Given the description of an element on the screen output the (x, y) to click on. 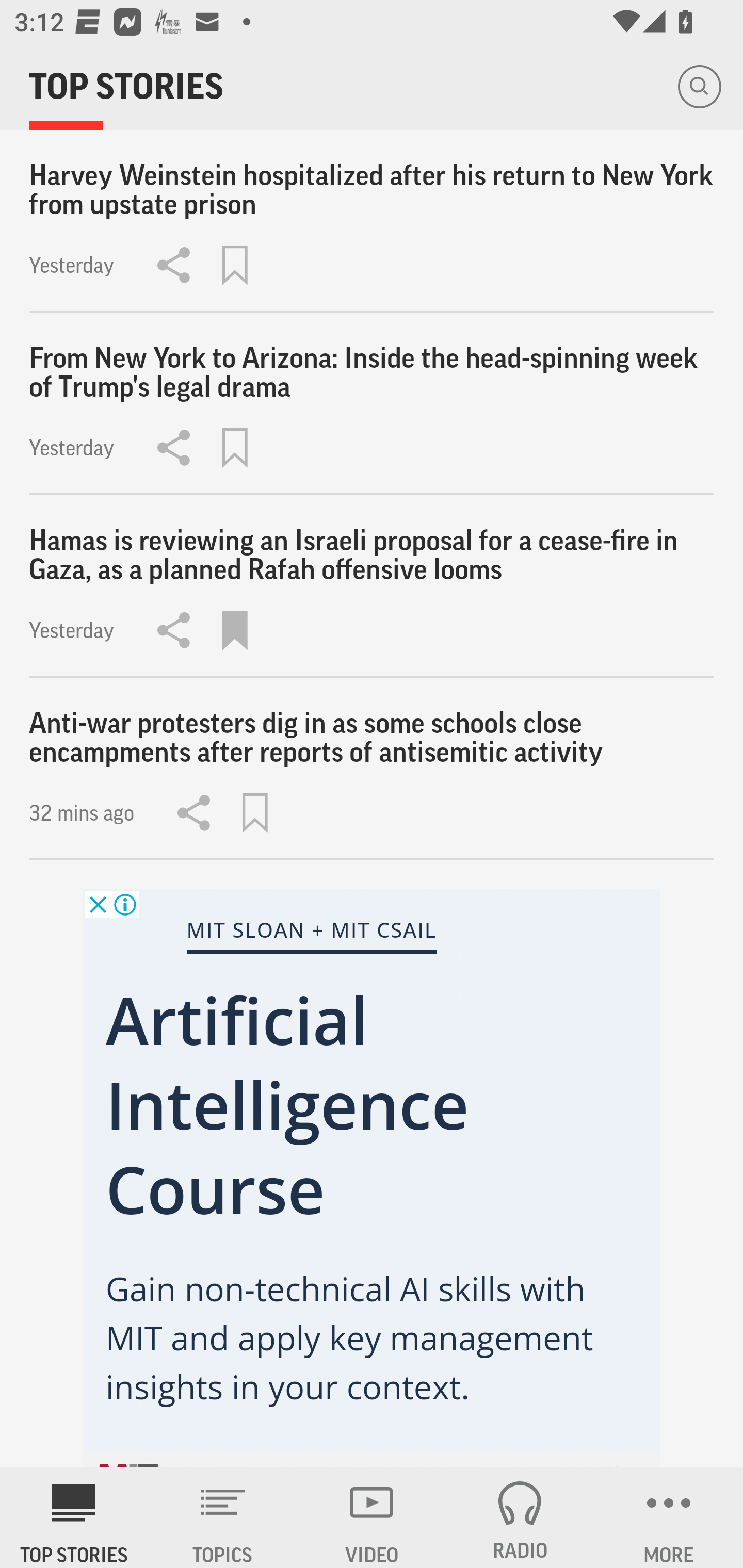
AP News TOP STORIES (74, 1517)
TOPICS (222, 1517)
VIDEO (371, 1517)
RADIO (519, 1517)
MORE (668, 1517)
